Given the description of an element on the screen output the (x, y) to click on. 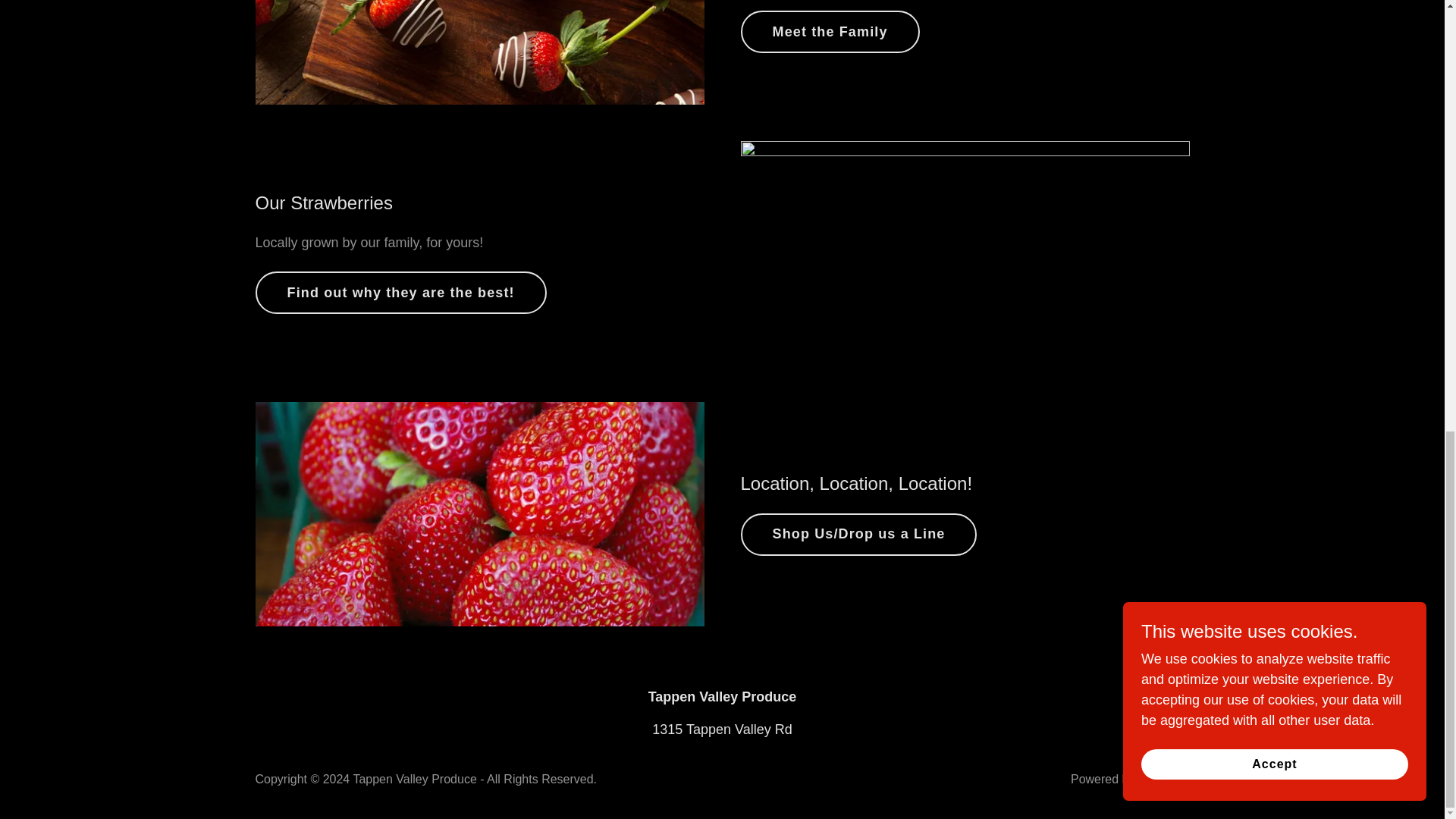
GoDaddy (1163, 779)
Find out why they are the best! (400, 292)
Meet the Family (828, 31)
